Given the description of an element on the screen output the (x, y) to click on. 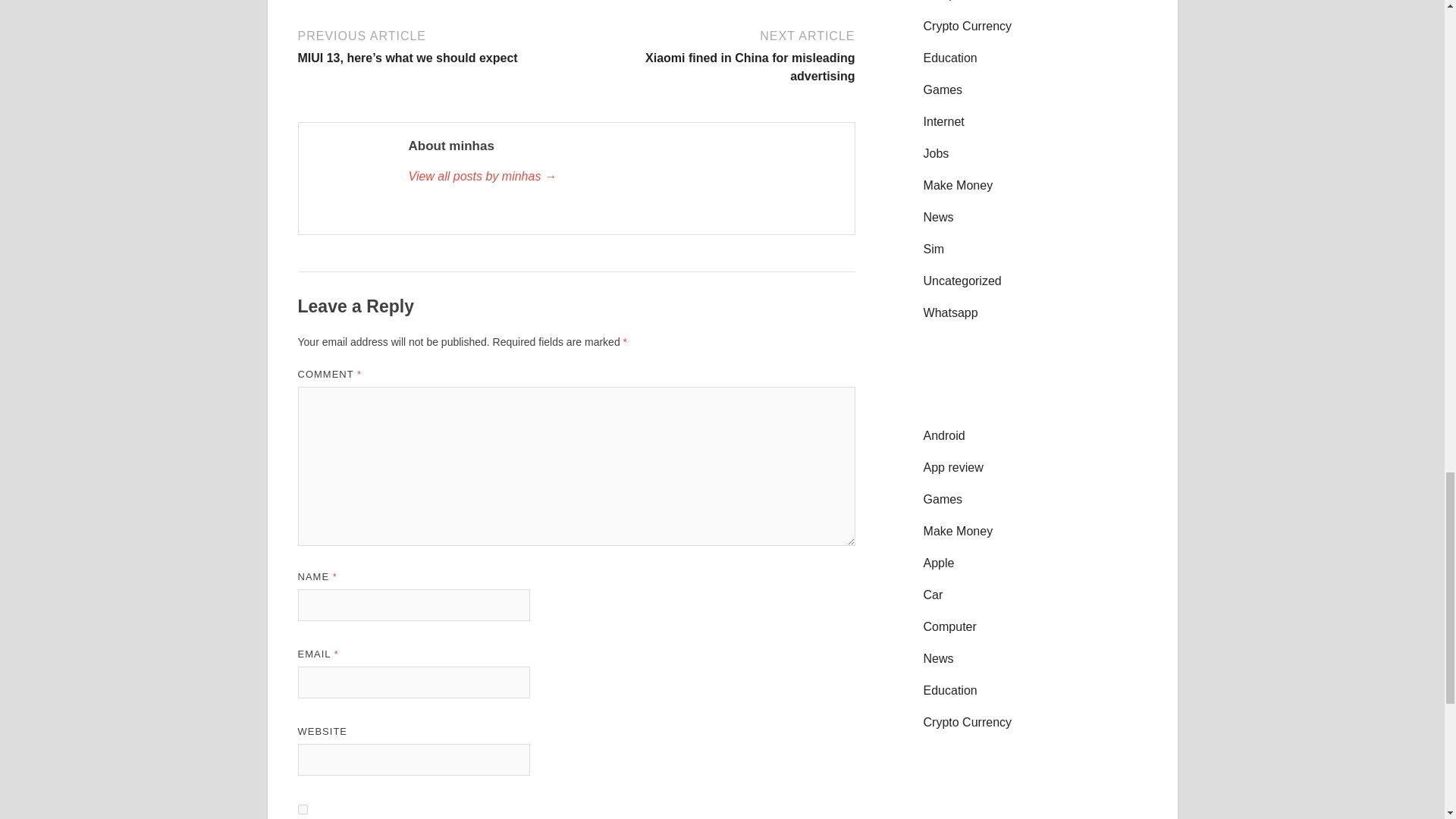
yes (302, 809)
minhas (622, 176)
